Given the description of an element on the screen output the (x, y) to click on. 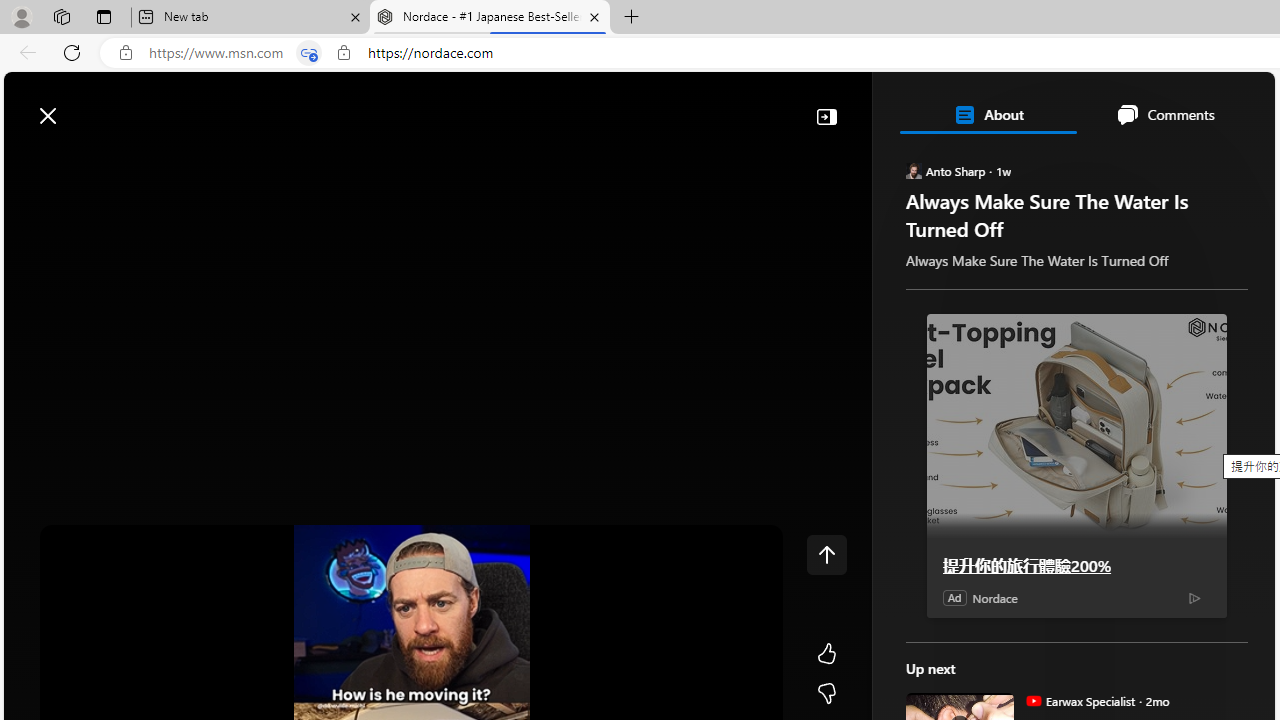
Personalize (1195, 162)
Collapse (826, 115)
Class: button-glyph (29, 162)
Enter your search term (644, 106)
The Associated Press (974, 645)
Dislike (826, 693)
